Given the description of an element on the screen output the (x, y) to click on. 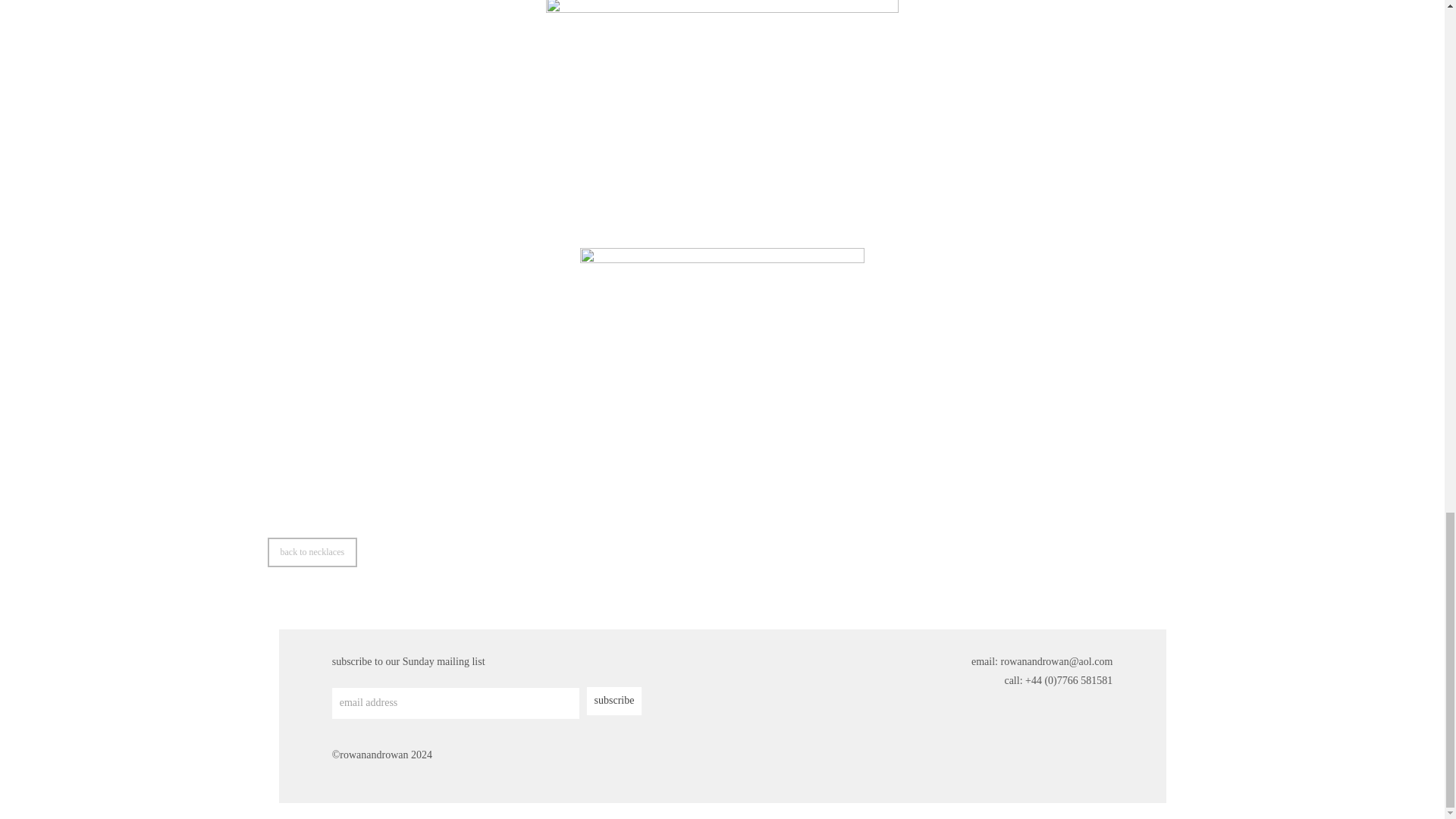
bracelets (311, 552)
subscribe (614, 700)
back to necklaces (311, 552)
